Given the description of an element on the screen output the (x, y) to click on. 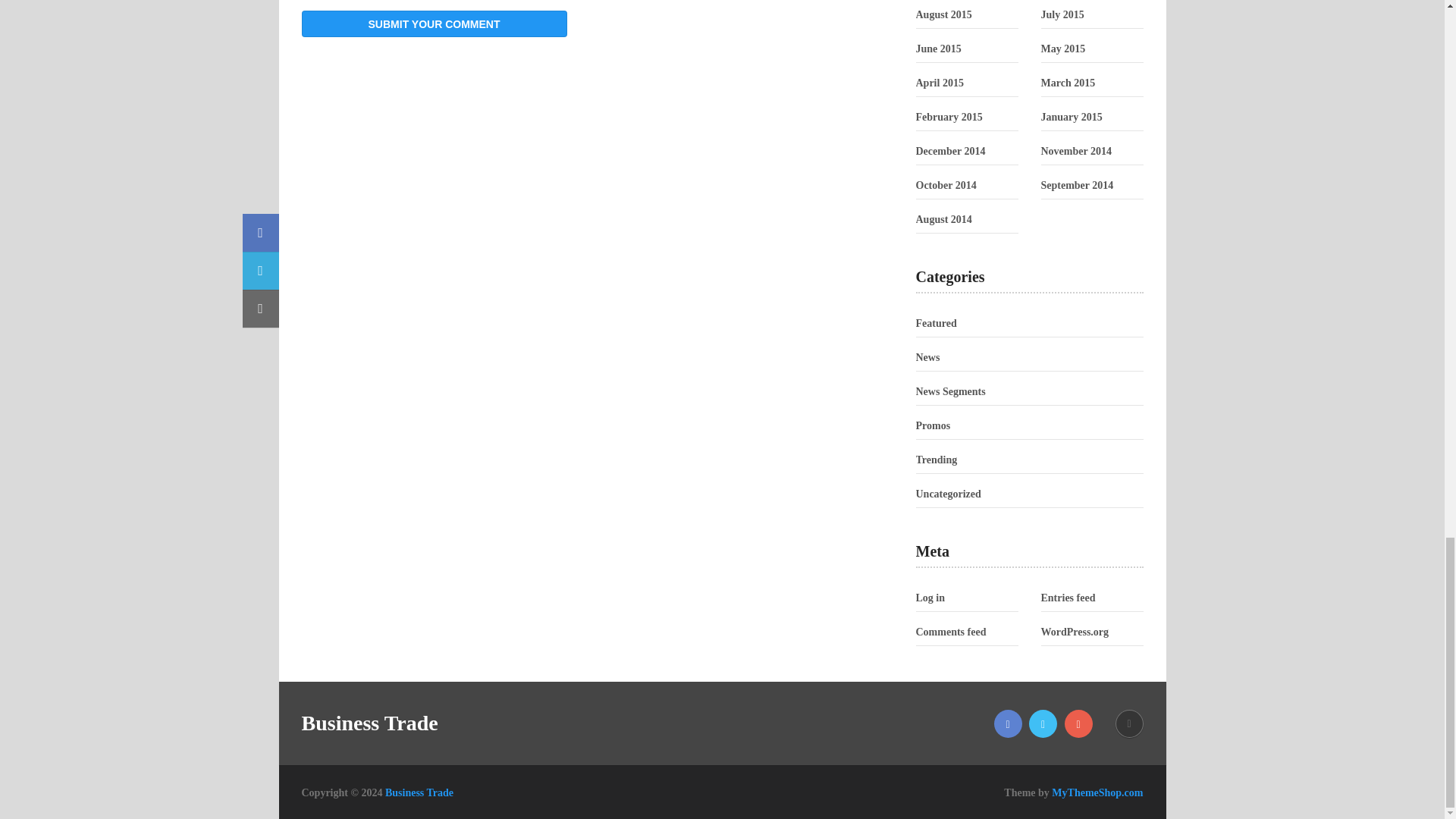
Submit Your Comment (434, 23)
Submit Your Comment (434, 23)
